Given the description of an element on the screen output the (x, y) to click on. 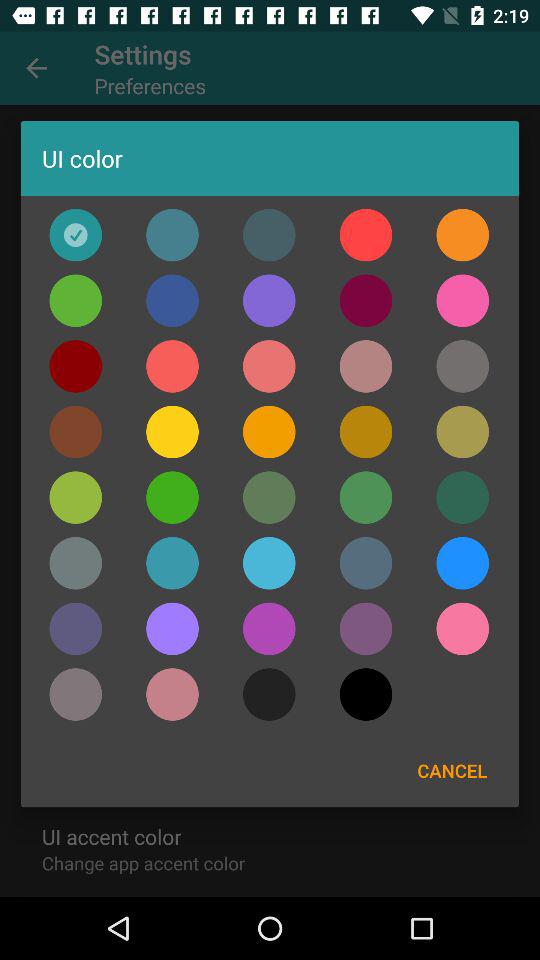
choose ui color (462, 300)
